Given the description of an element on the screen output the (x, y) to click on. 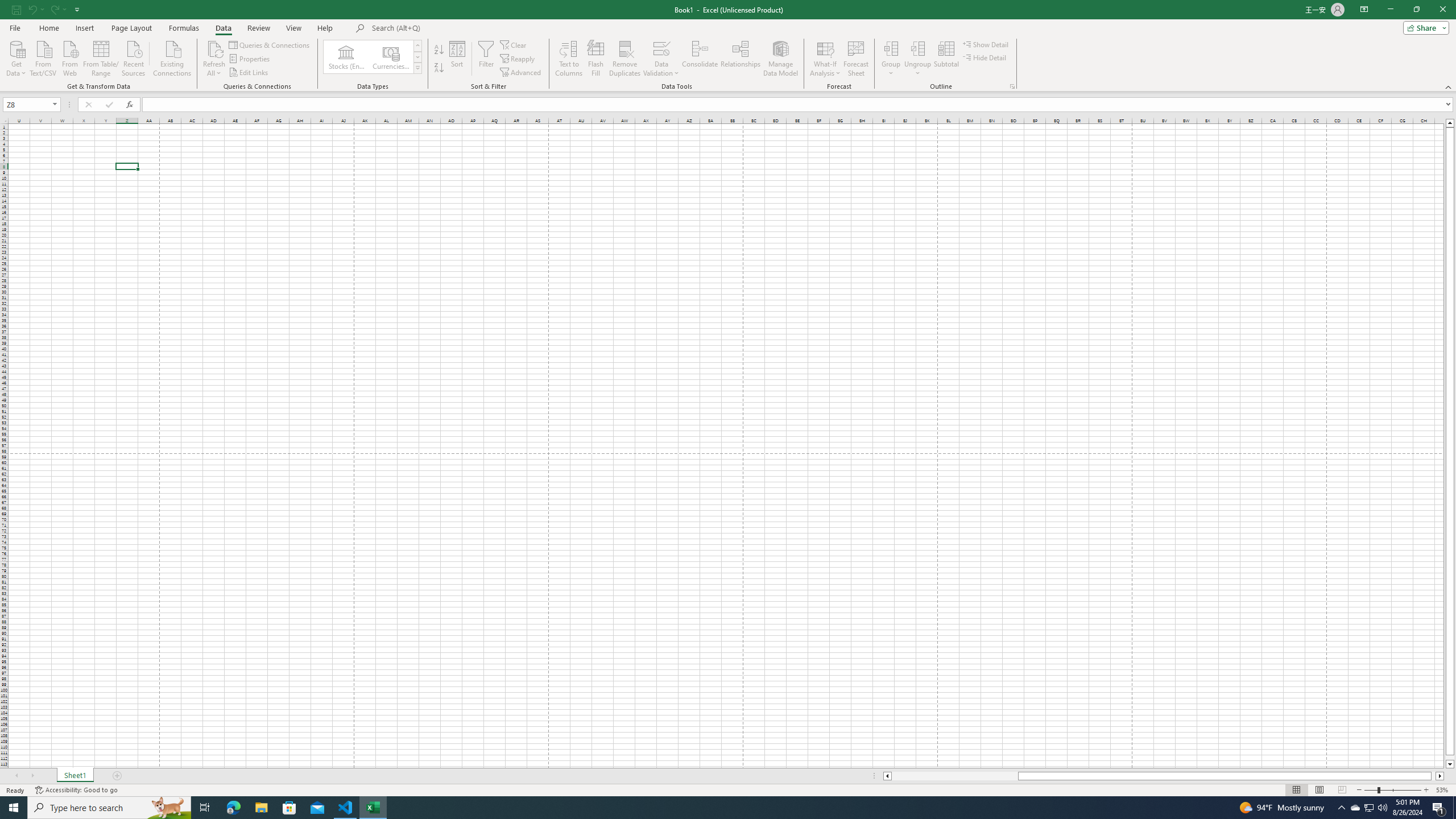
Get Data (16, 57)
Hide Detail (985, 56)
Currencies (English) (390, 56)
From Table/Range (100, 57)
From Web (69, 57)
Group and Outline Settings (1011, 85)
